Given the description of an element on the screen output the (x, y) to click on. 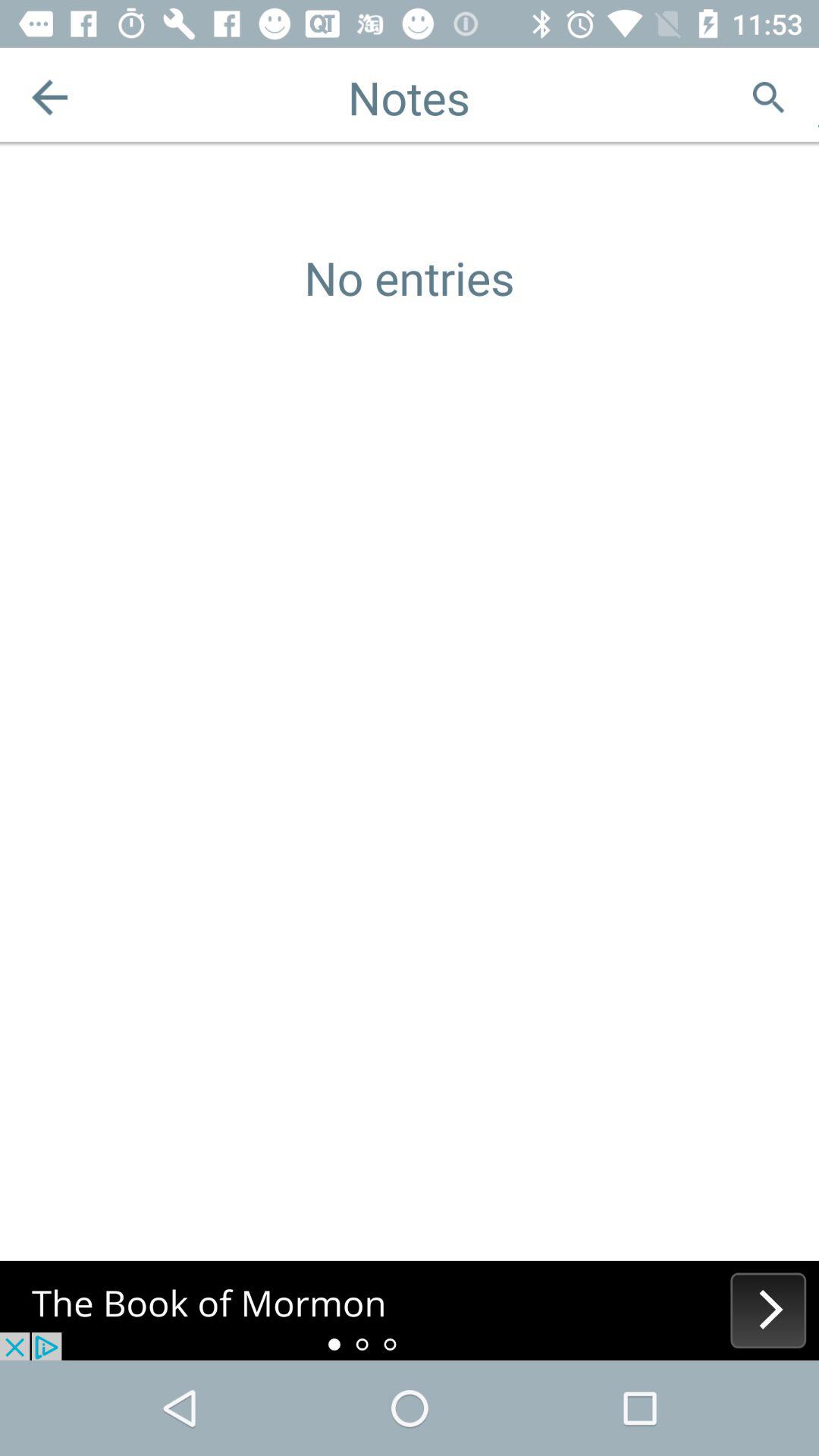
go to back (49, 97)
